Given the description of an element on the screen output the (x, y) to click on. 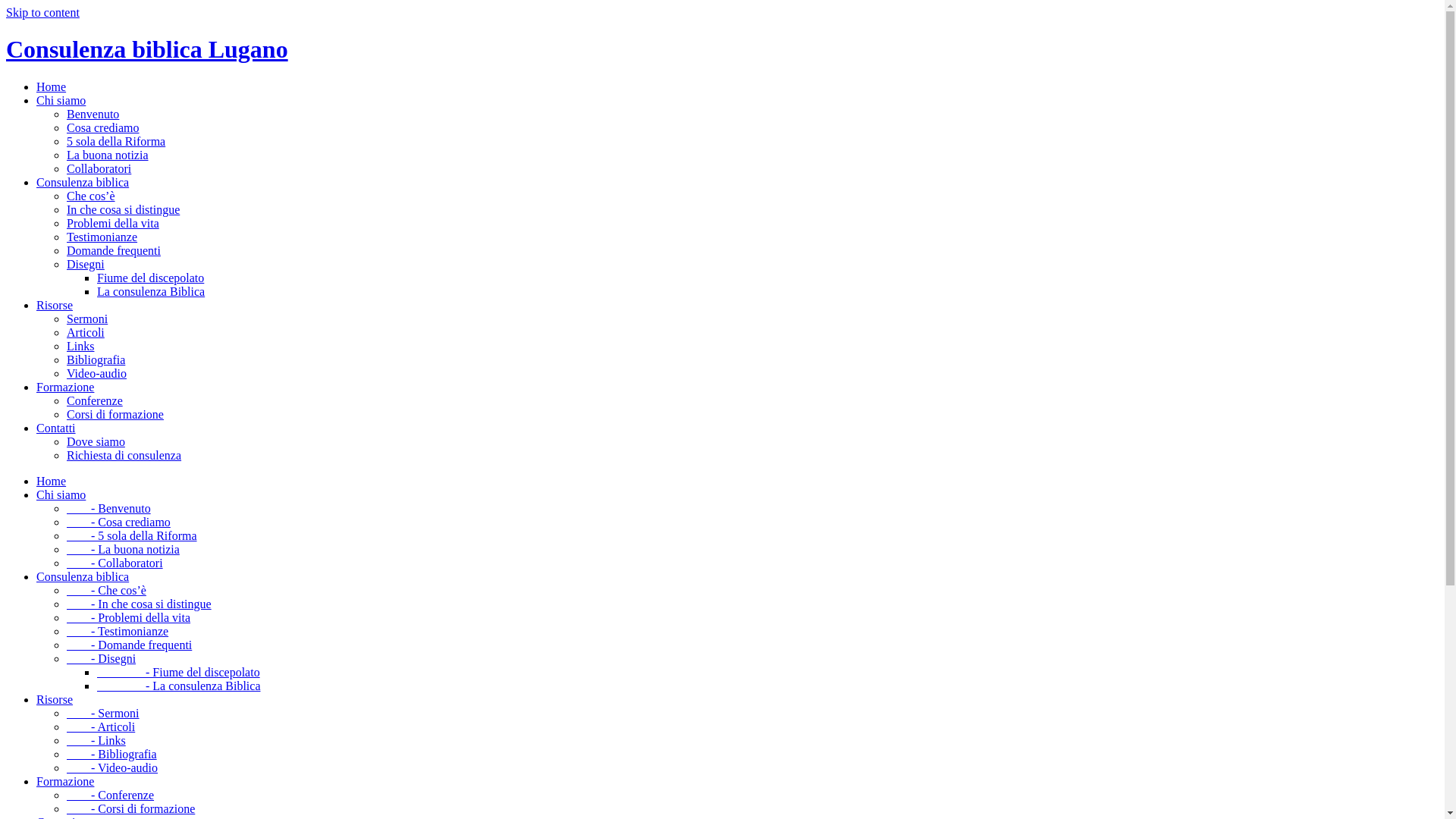
La consulenza Biblica Element type: text (150, 291)
Corsi di formazione Element type: text (114, 413)
Collaboratori Element type: text (98, 168)
        - Sermoni Element type: text (102, 712)
        - Corsi di formazione Element type: text (130, 808)
Formazione Element type: text (65, 386)
        - 5 sola della Riforma Element type: text (131, 535)
        - Links Element type: text (95, 740)
        - Disegni Element type: text (100, 658)
        - Testimonianze Element type: text (117, 630)
Problemi della vita Element type: text (112, 222)
Testimonianze Element type: text (101, 236)
Richiesta di consulenza Element type: text (123, 454)
Formazione Element type: text (65, 781)
Disegni Element type: text (85, 263)
5 sola della Riforma Element type: text (115, 140)
Fiume del discepolato Element type: text (150, 277)
Skip to content Element type: text (42, 12)
Risorse Element type: text (54, 699)
                - Fiume del discepolato Element type: text (178, 671)
        - Benvenuto Element type: text (108, 508)
Articoli Element type: text (85, 332)
        - In che cosa si distingue Element type: text (138, 603)
In che cosa si distingue Element type: text (122, 209)
        - Problemi della vita Element type: text (128, 617)
Domande frequenti Element type: text (113, 250)
Cosa crediamo Element type: text (102, 127)
Consulenza biblica Element type: text (82, 576)
Benvenuto Element type: text (92, 113)
Links Element type: text (80, 345)
        - Cosa crediamo Element type: text (118, 521)
Consulenza biblica Lugano Element type: text (722, 49)
        - Domande frequenti Element type: text (128, 644)
Home Element type: text (50, 480)
Dove siamo Element type: text (95, 441)
        - Bibliografia Element type: text (111, 753)
Sermoni Element type: text (86, 318)
Risorse Element type: text (54, 304)
                - La consulenza Biblica Element type: text (178, 685)
        - Articoli Element type: text (100, 726)
        - Video-audio Element type: text (111, 767)
Video-audio Element type: text (96, 373)
        - Conferenze Element type: text (109, 794)
Chi siamo Element type: text (60, 494)
Contatti Element type: text (55, 427)
Chi siamo Element type: text (60, 100)
Consulenza biblica Element type: text (82, 181)
        - La buona notizia Element type: text (122, 548)
Conferenze Element type: text (94, 400)
Home Element type: text (50, 86)
La buona notizia Element type: text (107, 154)
Bibliografia Element type: text (95, 359)
        - Collaboratori Element type: text (114, 562)
